Given the description of an element on the screen output the (x, y) to click on. 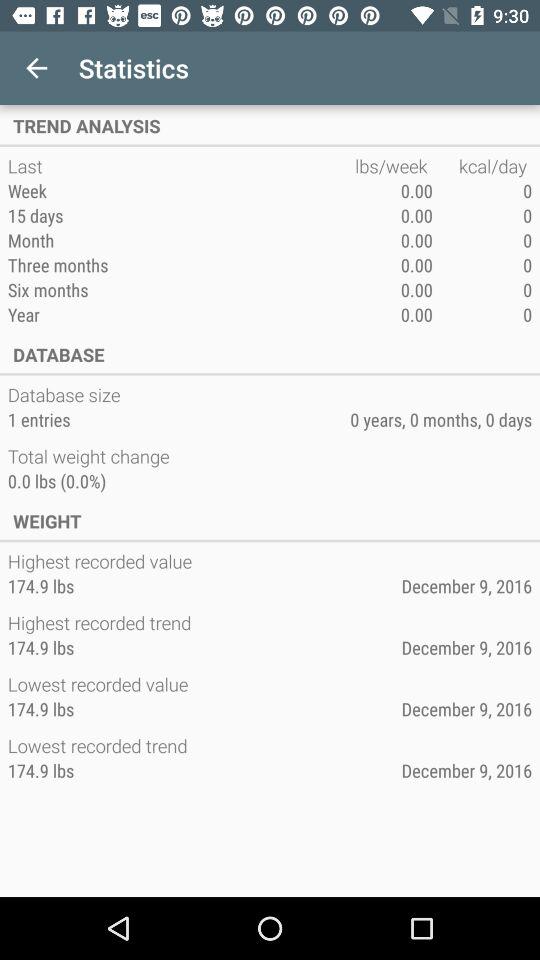
turn on the icon above 0.00 icon (482, 165)
